Given the description of an element on the screen output the (x, y) to click on. 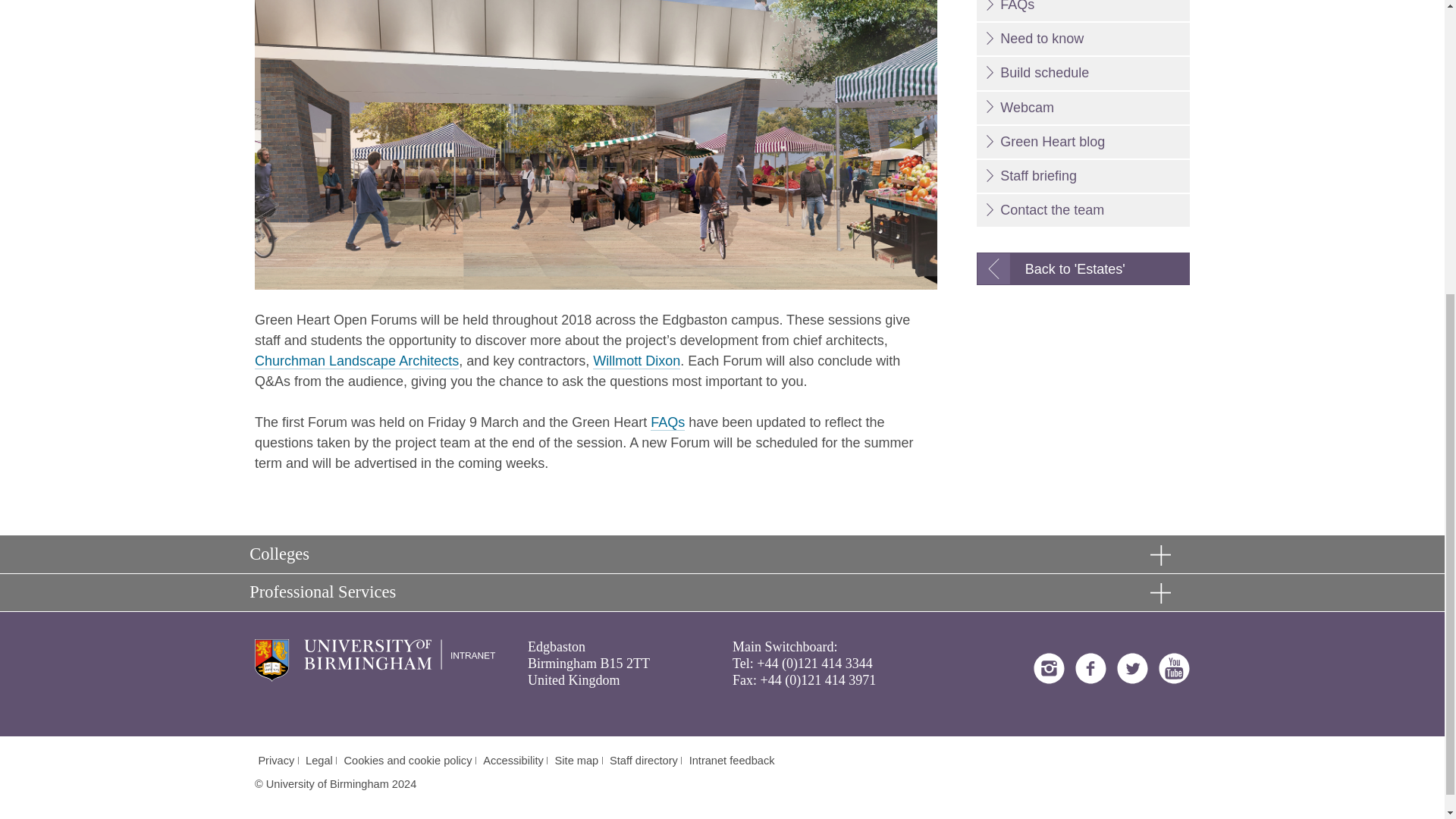
Build schedule (1082, 72)
Staff briefing (1082, 175)
Need to know (1082, 38)
Green Heart FAQs (667, 422)
Contact the team (1082, 210)
FAQs (1082, 10)
Webcam (1082, 107)
Green Heart blog (1082, 142)
